Given the description of an element on the screen output the (x, y) to click on. 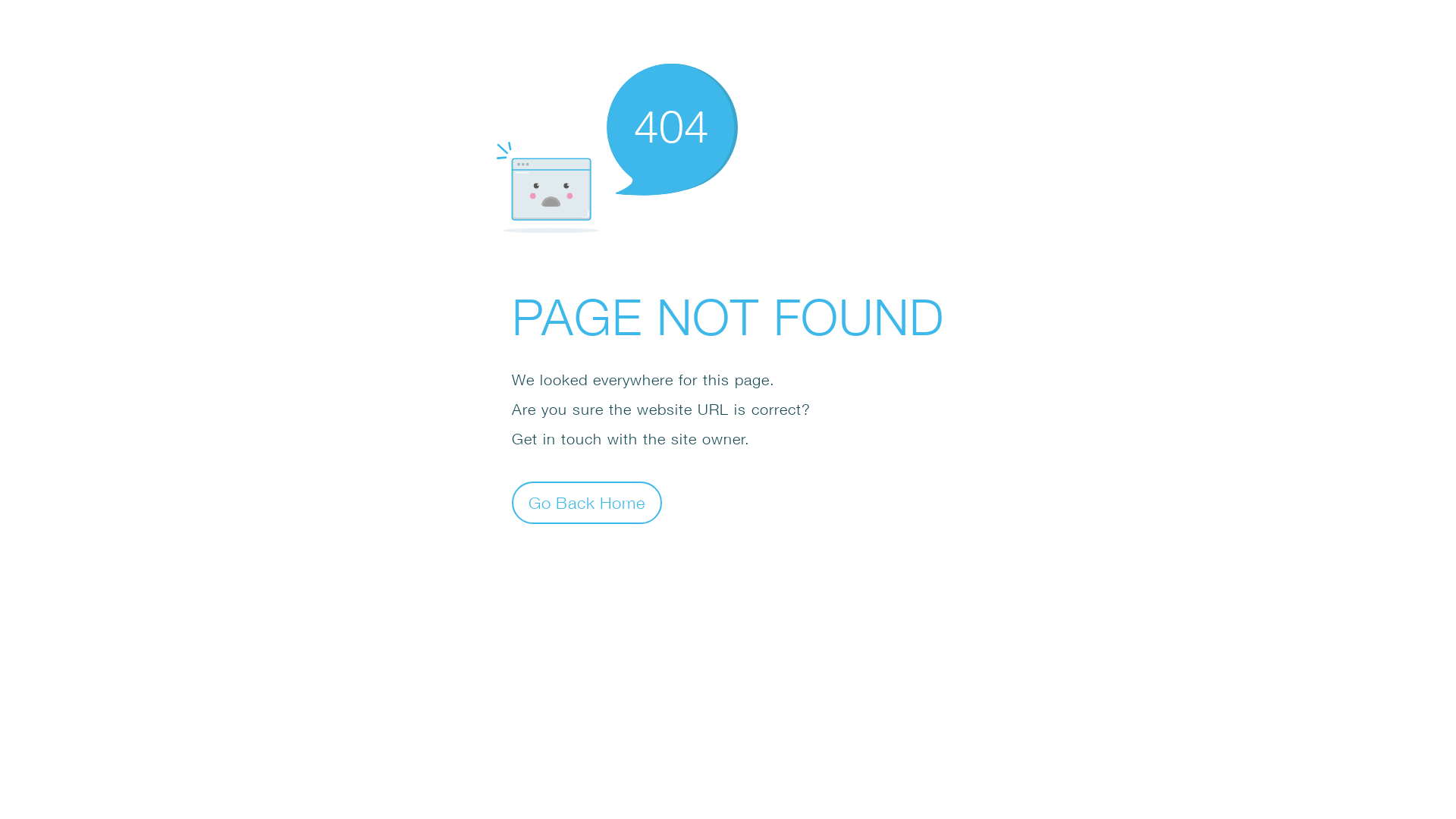
Go Back Home Element type: text (586, 502)
